Given the description of an element on the screen output the (x, y) to click on. 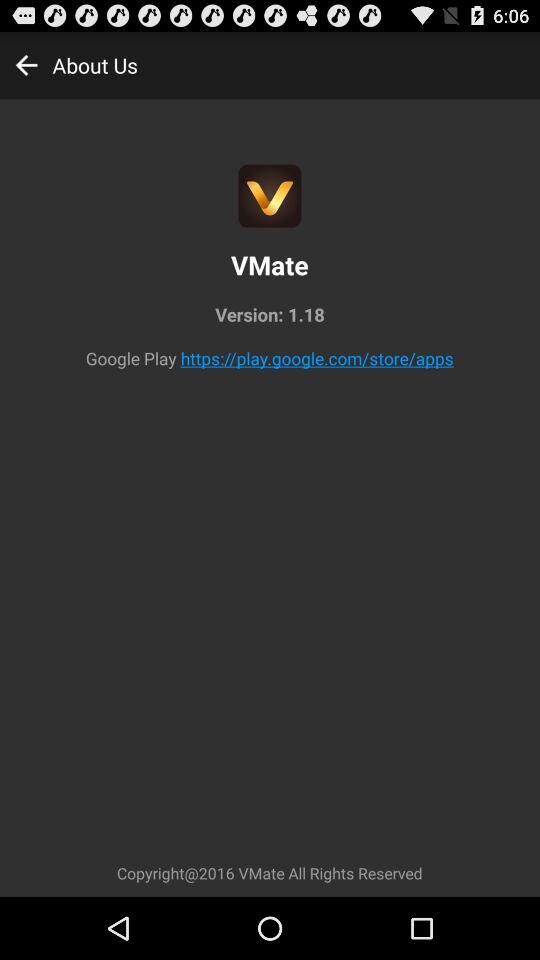
choose the https play google app (316, 357)
